Given the description of an element on the screen output the (x, y) to click on. 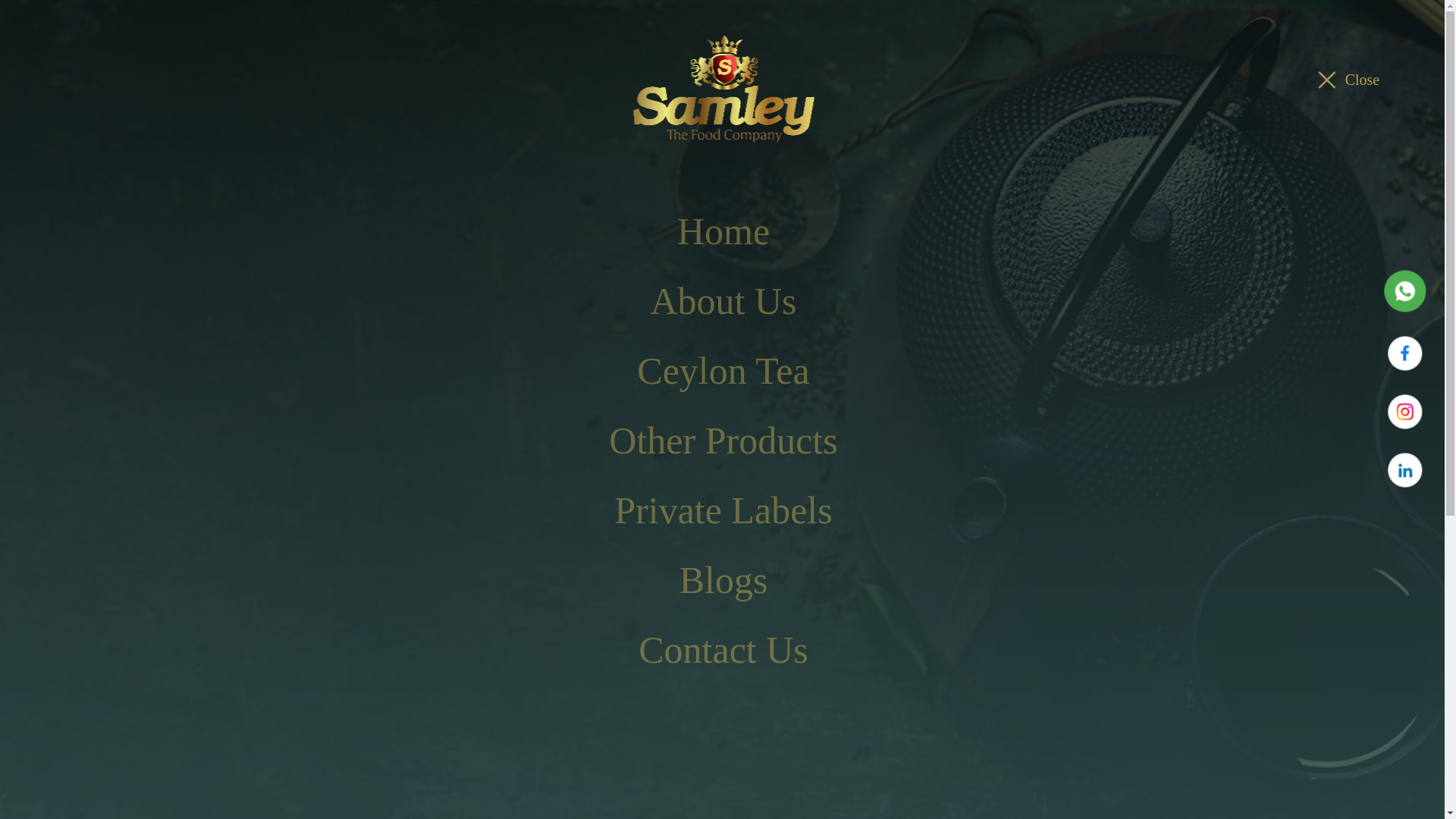
Blogs (722, 580)
Ceylon Tea (722, 370)
Ceylon Tea (612, 80)
Replacing Stapler Tags To Stapler Free Tea Bags (288, 204)
Other Products (722, 440)
Other Products (722, 440)
About Us (722, 301)
Contact Us (722, 649)
Home  (105, 204)
Ceylon Tea (722, 370)
Home (105, 204)
Blogs (722, 580)
Private Labels (722, 510)
View our products (243, 726)
Blogs (146, 204)
